Given the description of an element on the screen output the (x, y) to click on. 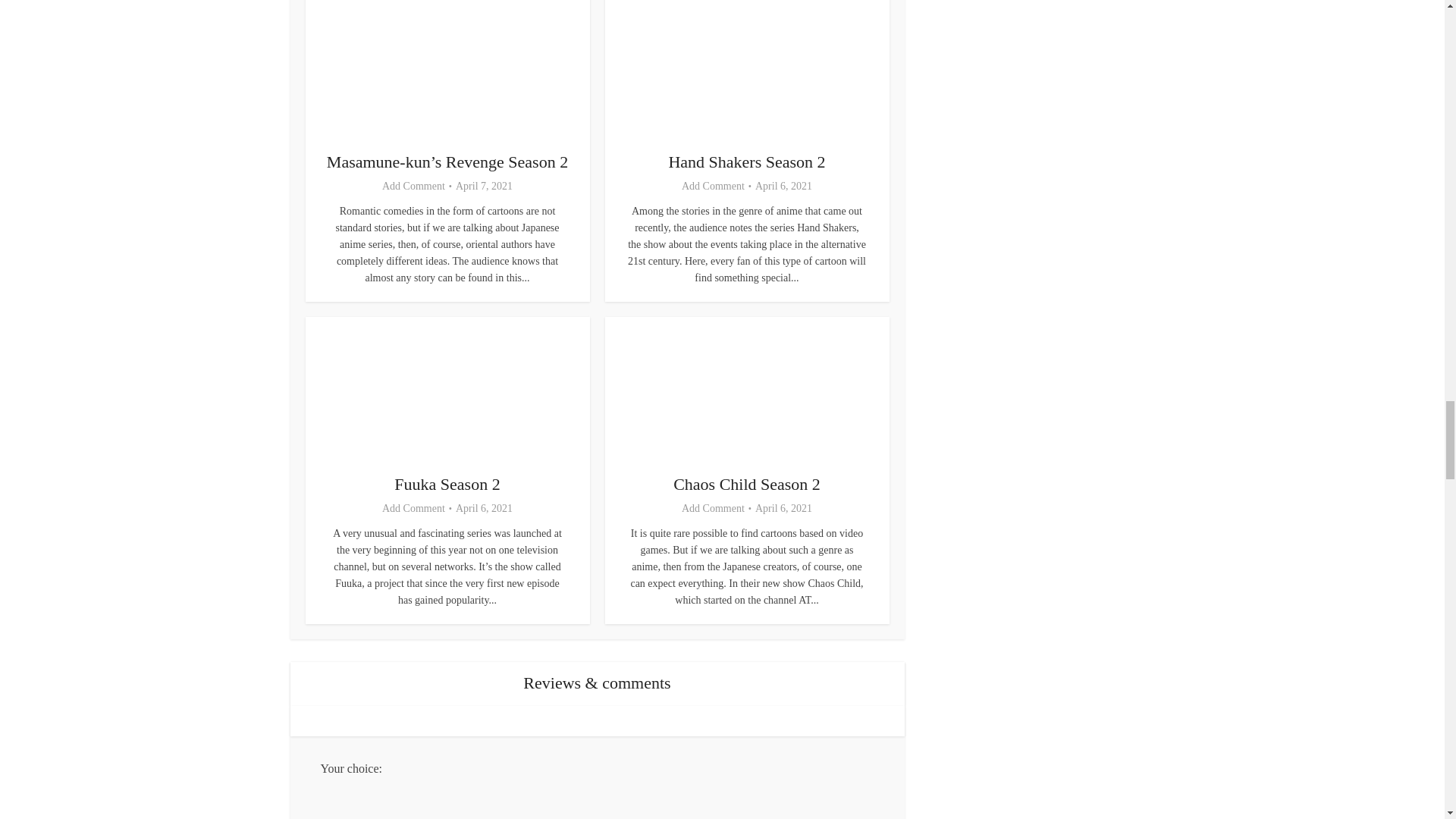
1 Star (612, 798)
Chaos Child Season 2 (746, 484)
Hand Shakers Season 2 (746, 161)
Add Comment (413, 186)
Add Comment (712, 186)
Fuuka Season 2 (446, 484)
Hand Shakers Season 2 (746, 161)
Add Comment (712, 508)
Fuuka Season 2 (446, 484)
Chaos Child Season 2 (746, 484)
